Given the description of an element on the screen output the (x, y) to click on. 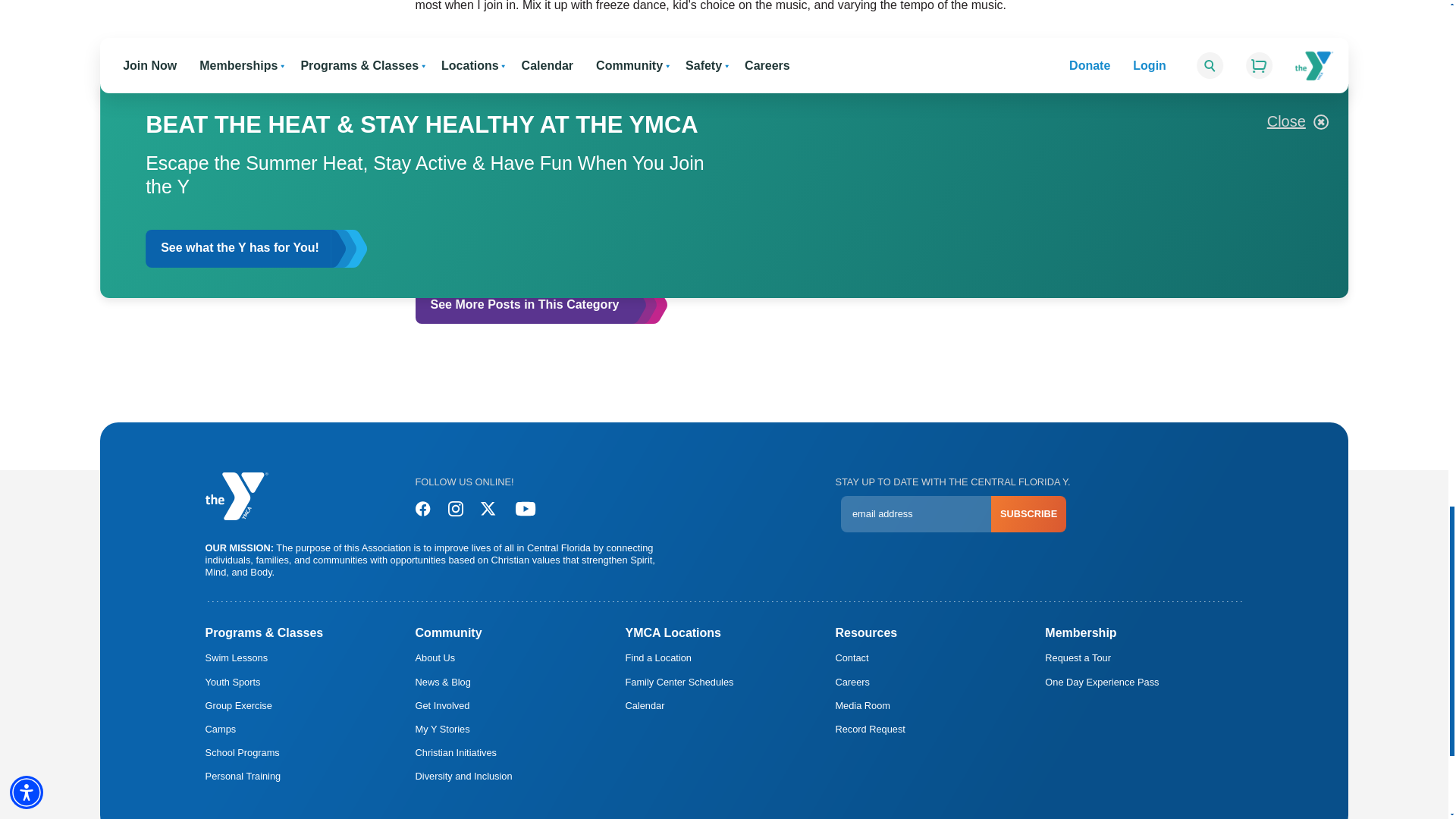
Home (236, 496)
